Given the description of an element on the screen output the (x, y) to click on. 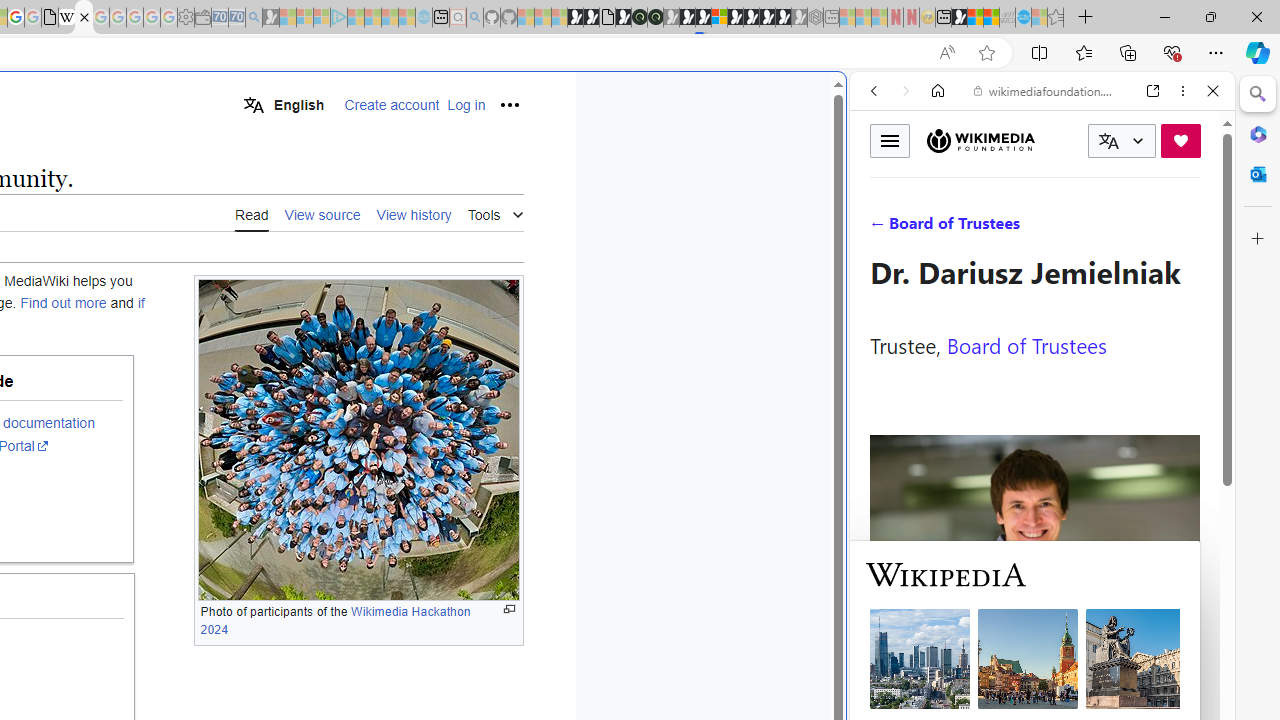
Toggle menu (890, 140)
Board of Trustees (1026, 344)
Services - Maintenance | Sky Blue Bikes - Sky Blue Bikes (1023, 17)
Create account (392, 105)
